Given the description of an element on the screen output the (x, y) to click on. 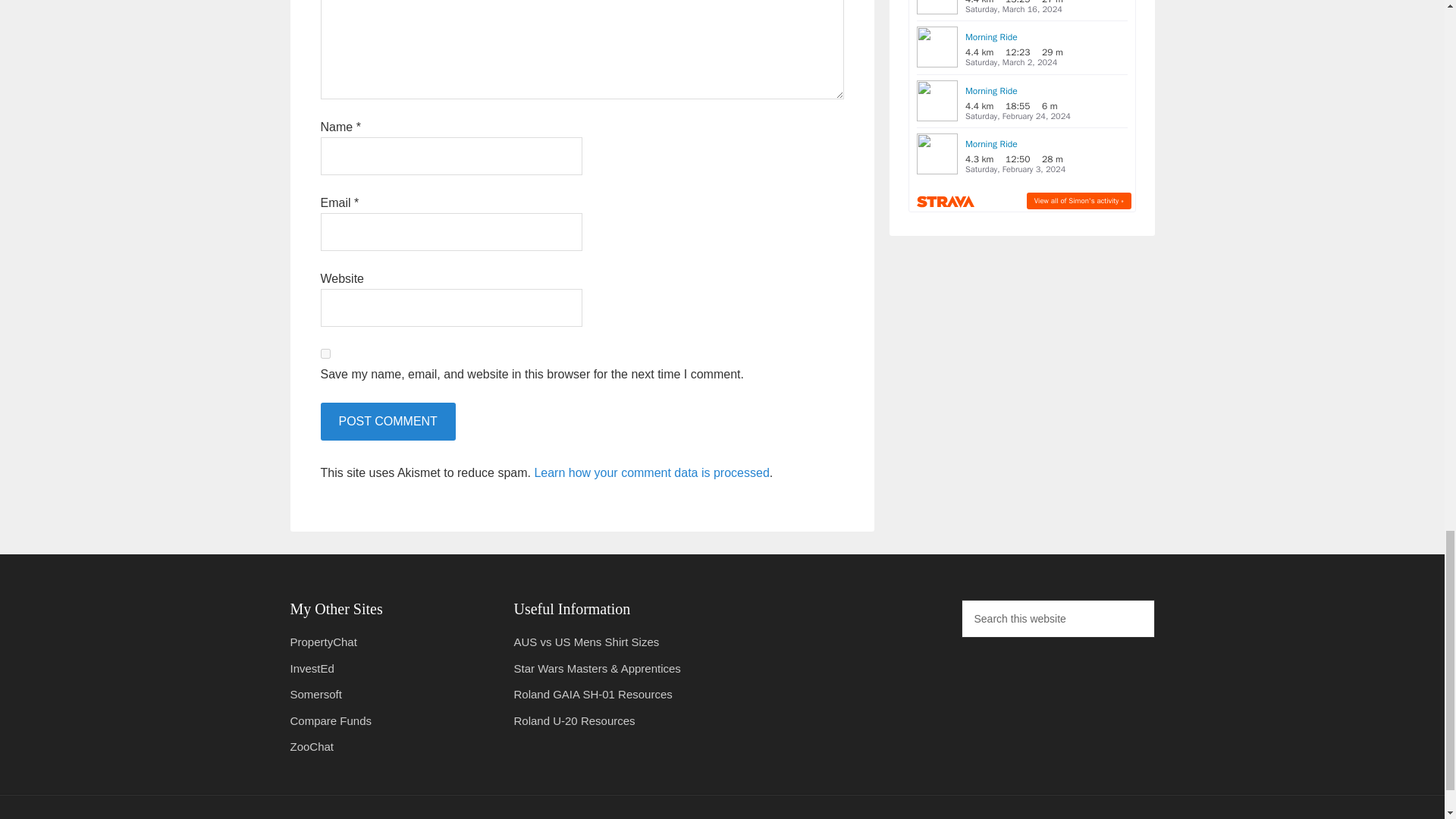
Investor Education (311, 667)
yes (325, 353)
Post Comment (387, 421)
Compare Managed Funds and ETFs (330, 720)
Analysis of Tweets by Australian MPs (322, 641)
Learn how your comment data is processed (651, 472)
Post Comment (387, 421)
